Given the description of an element on the screen output the (x, y) to click on. 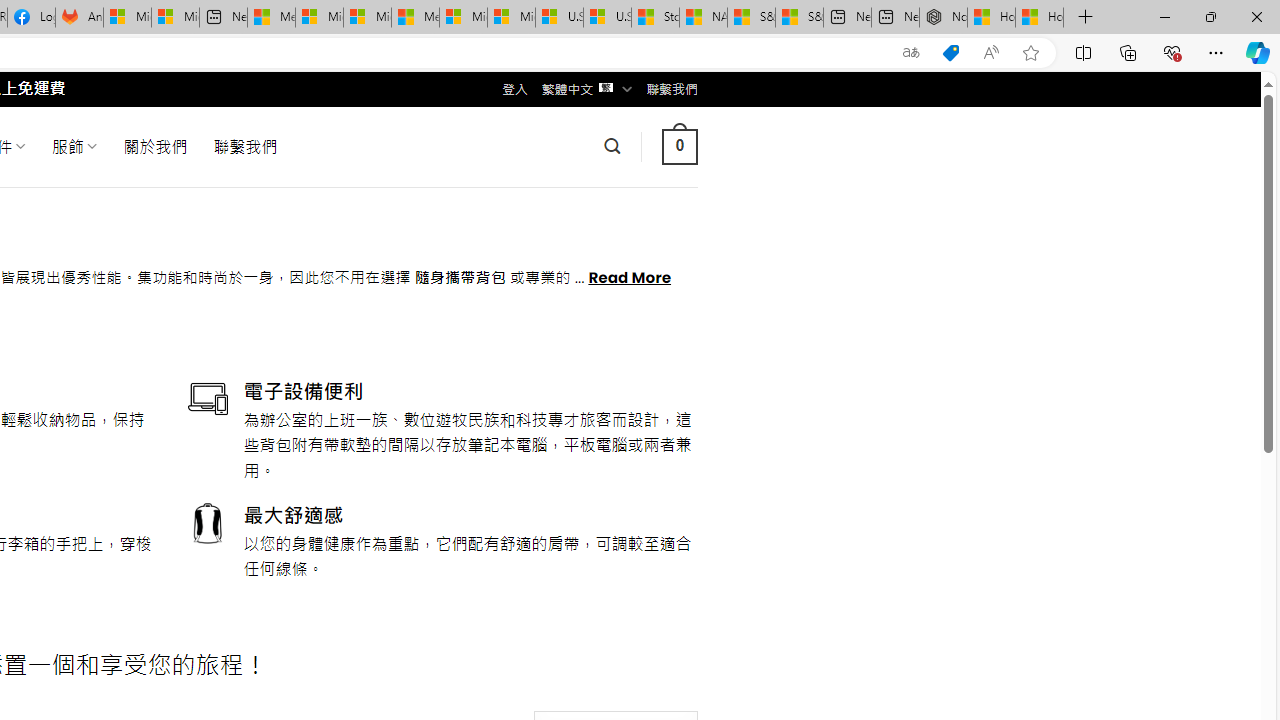
Microsoft account | Home (367, 17)
Read More (629, 276)
